Given the description of an element on the screen output the (x, y) to click on. 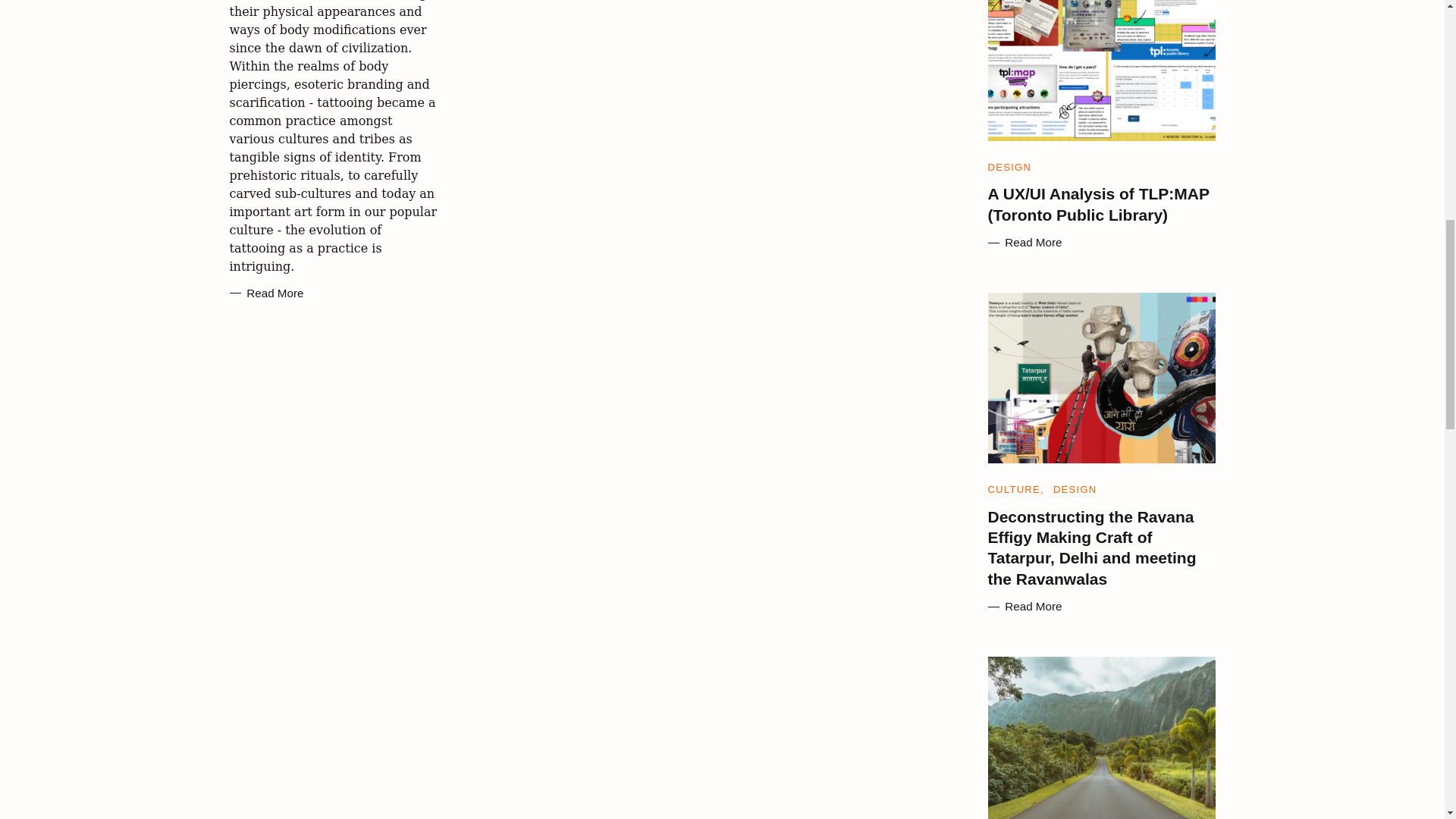
Read More (265, 293)
Read More (1100, 242)
DESIGN (1008, 166)
